Given the description of an element on the screen output the (x, y) to click on. 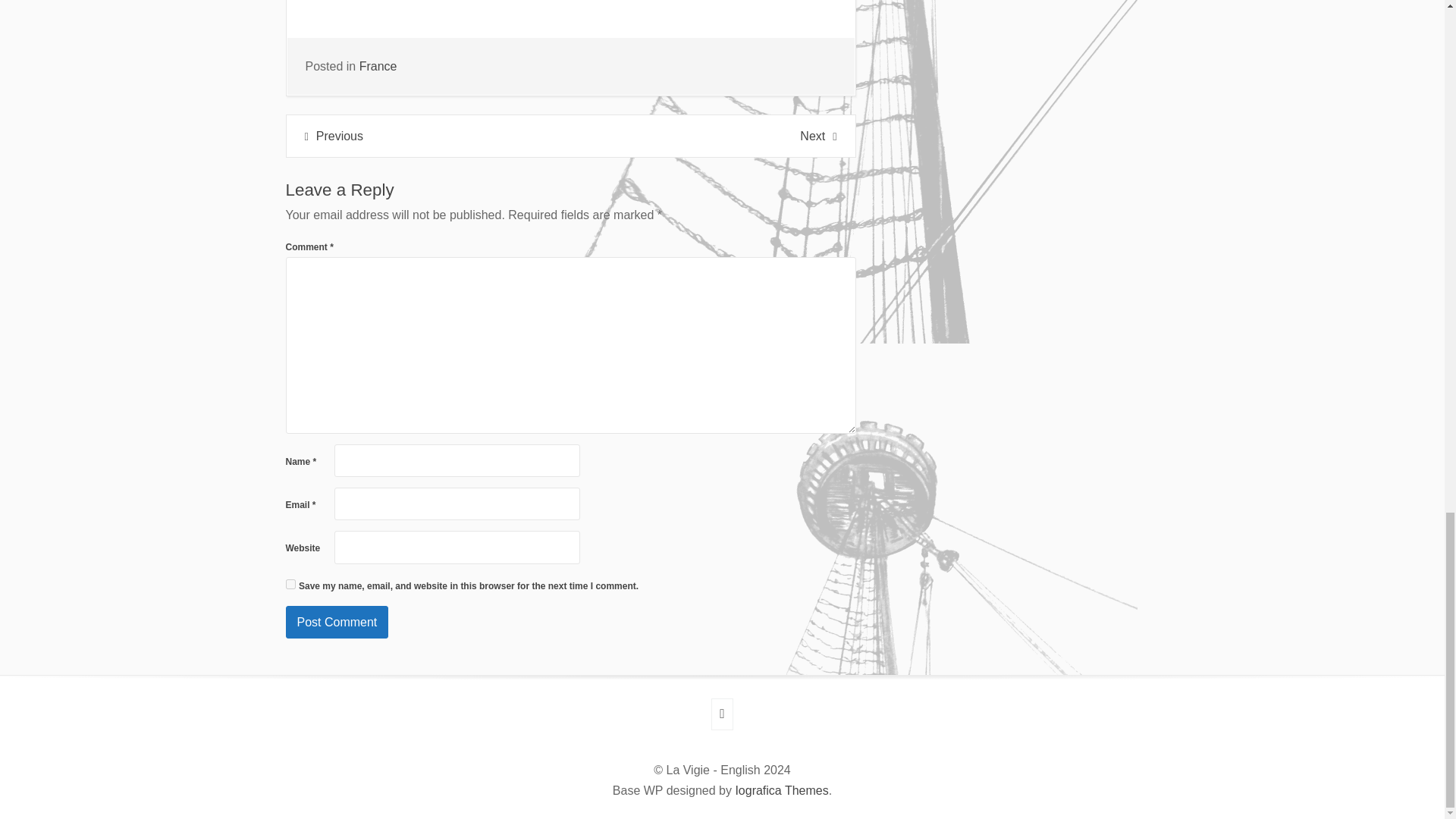
Post Comment (336, 622)
Iografica Themes (781, 789)
Post Comment (336, 622)
Next (817, 135)
France (378, 65)
Previous (334, 135)
yes (290, 583)
